Given the description of an element on the screen output the (x, y) to click on. 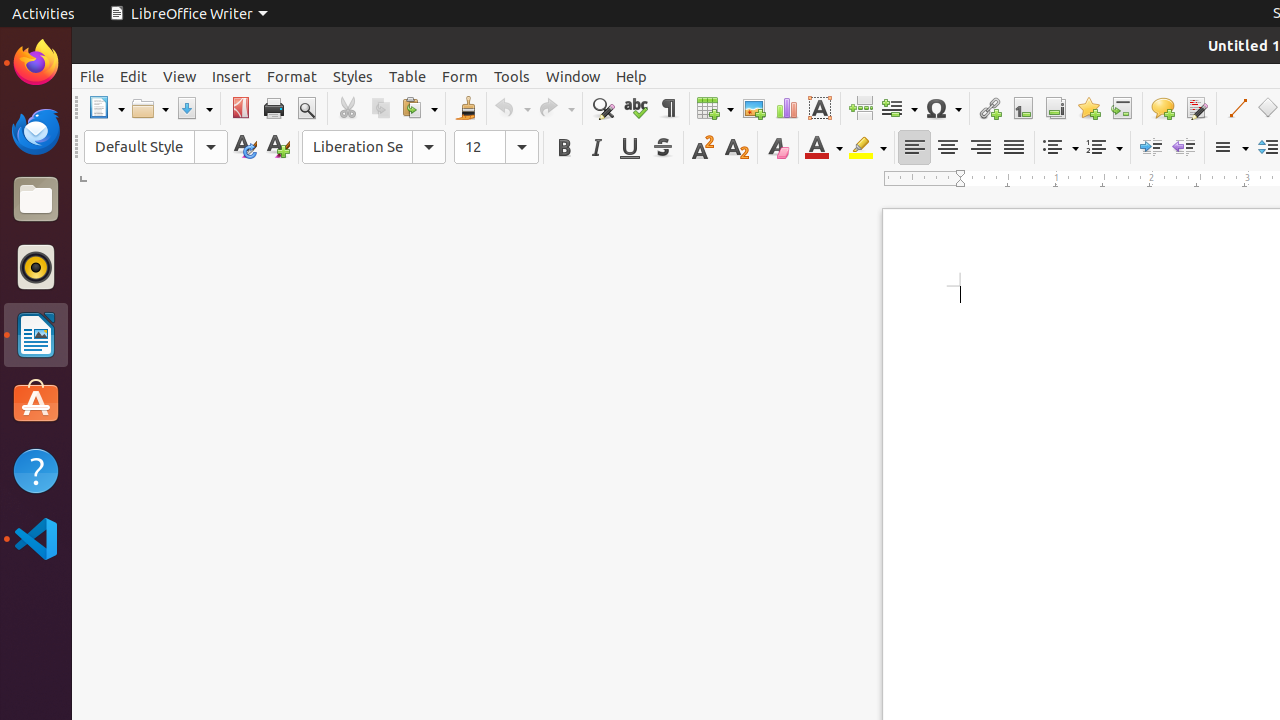
Track Changes Functions Element type: toggle-button (1195, 108)
Find & Replace Element type: toggle-button (602, 108)
Subscript Element type: toggle-button (736, 147)
Chart Element type: push-button (786, 108)
Spelling Element type: push-button (635, 108)
